Given the description of an element on the screen output the (x, y) to click on. 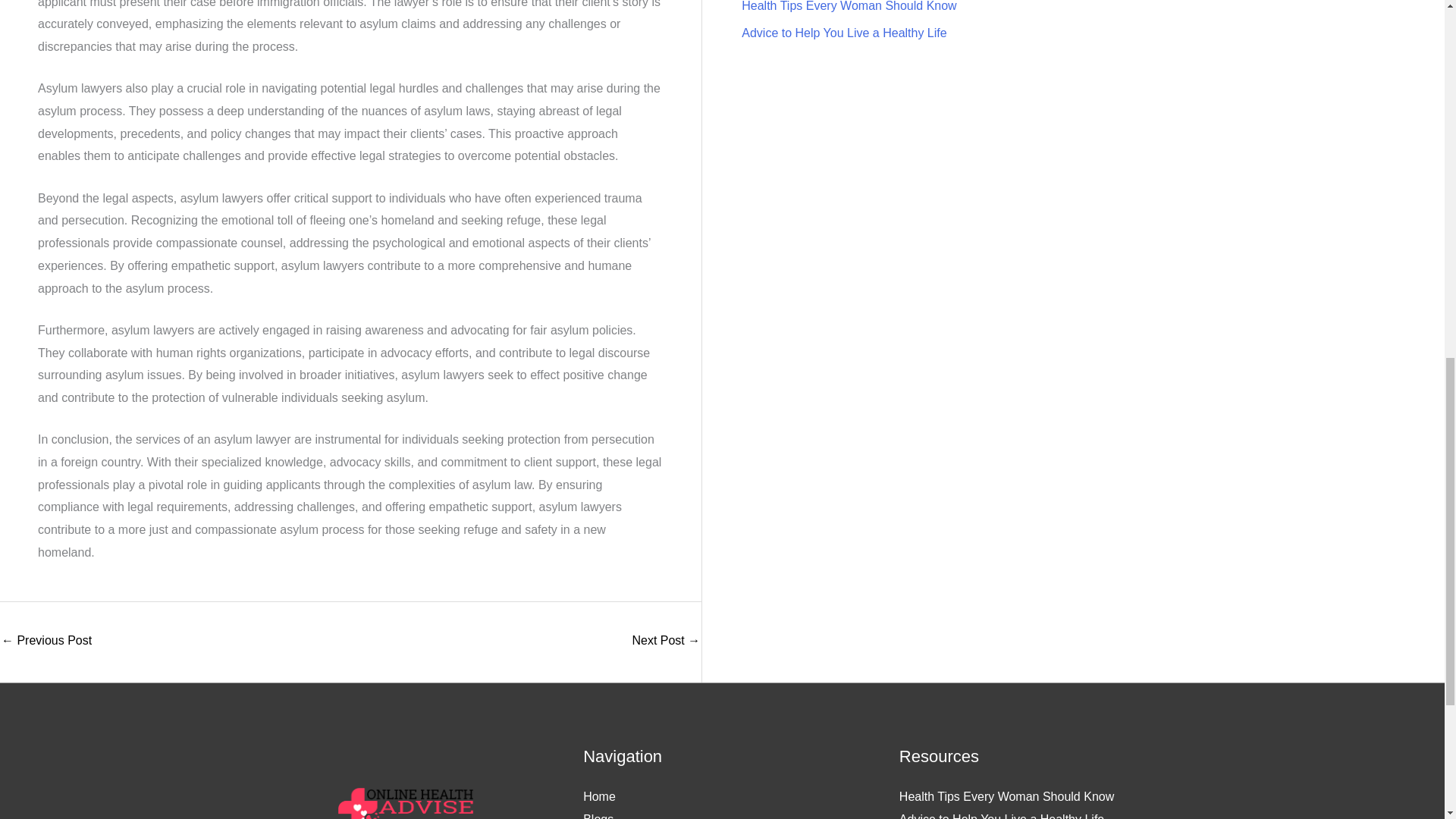
Advice to Help You Live a Healthy Life (1001, 816)
Blogs (597, 816)
Home (599, 796)
Health Tips Every Woman Should Know (848, 6)
Advice to Help You Live a Healthy Life (843, 32)
The Role Of Traffic Laws In Pedestrian Accident Claims (665, 642)
Health Tips Every Woman Should Know (1006, 796)
Pain To Power: PT For Chronic Conditions (46, 642)
